Given the description of an element on the screen output the (x, y) to click on. 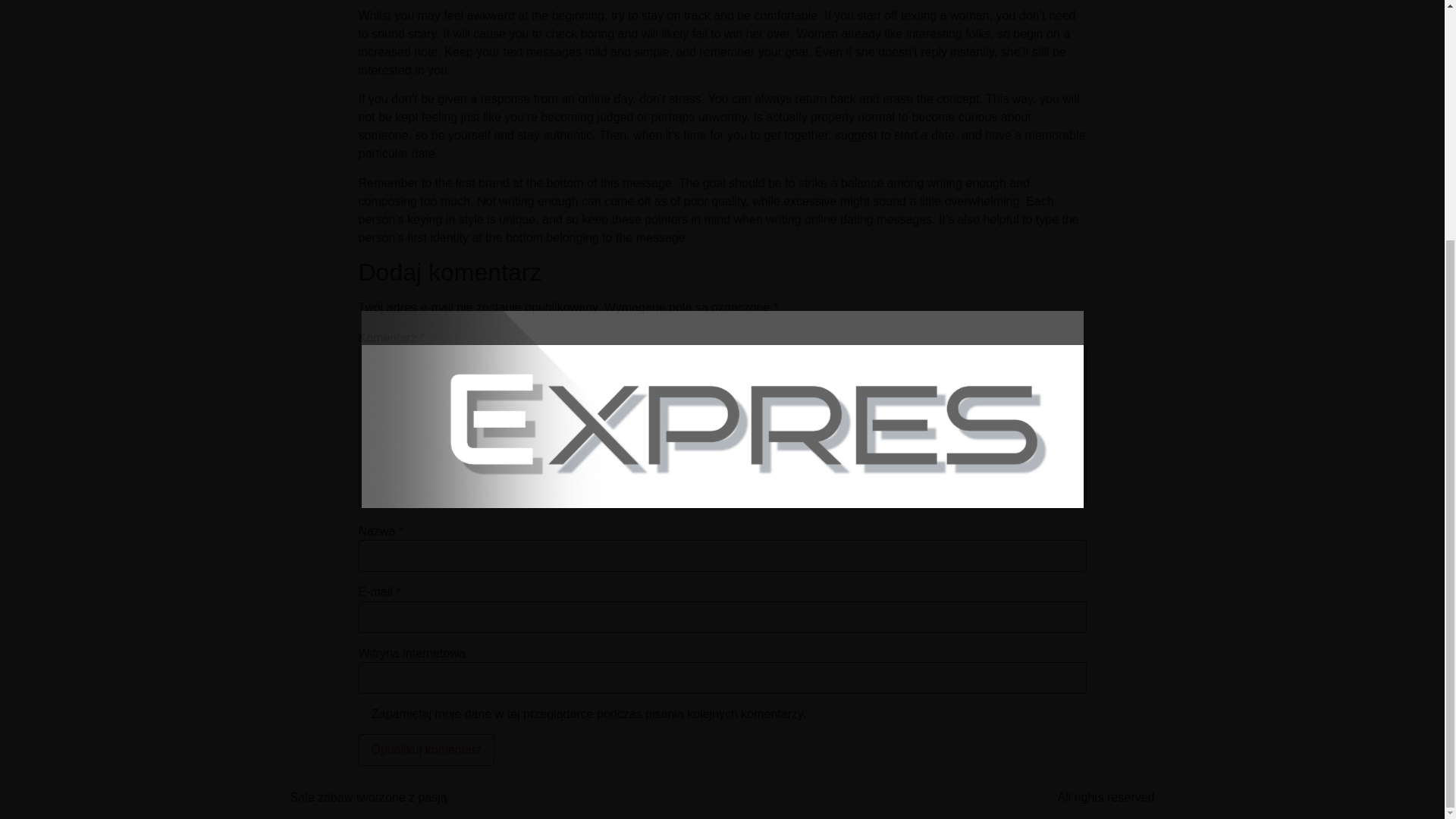
Opublikuj komentarz (426, 749)
Opublikuj komentarz (426, 749)
yes (363, 712)
